Given the description of an element on the screen output the (x, y) to click on. 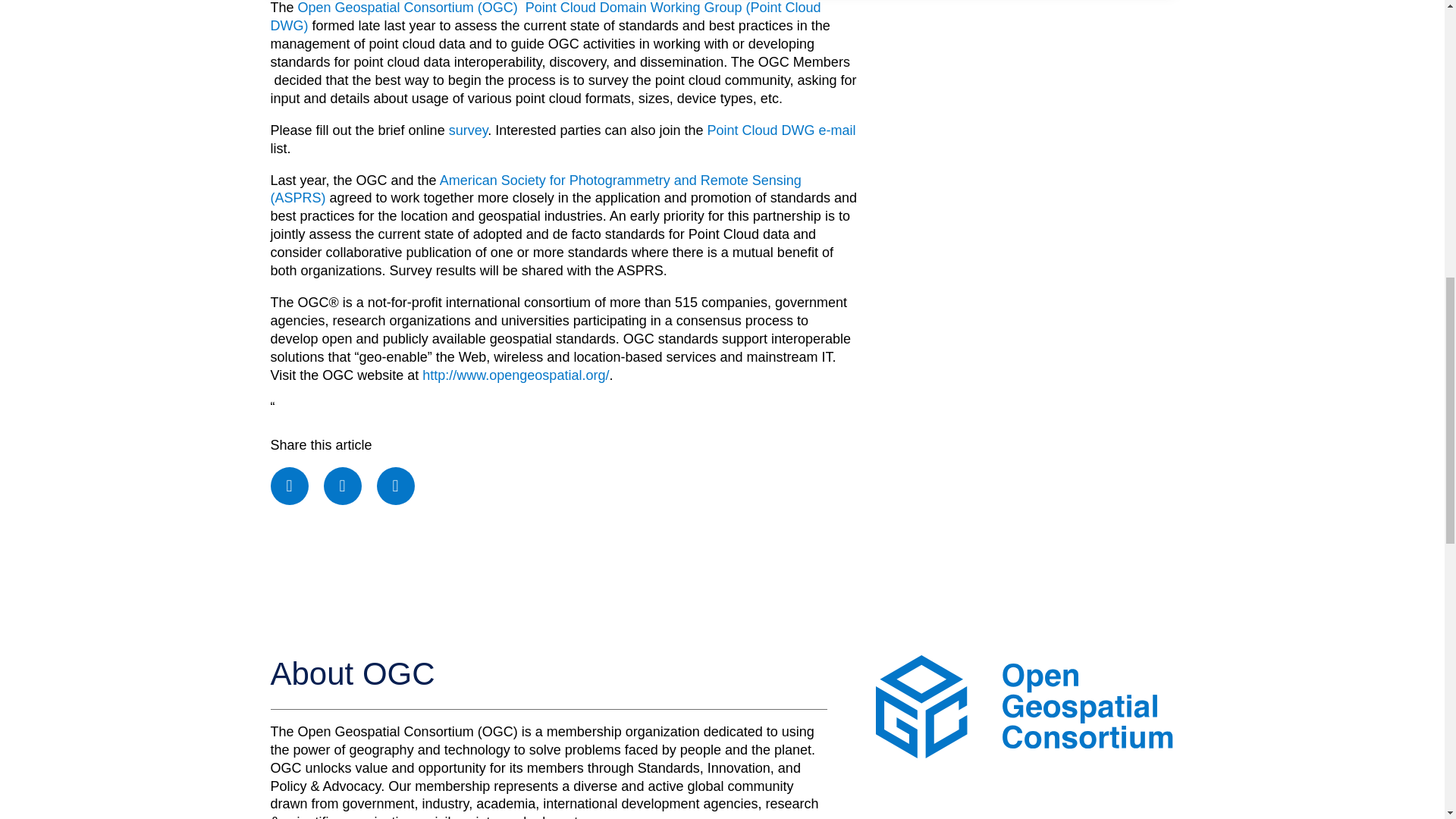
Twitter (342, 485)
Facebook (288, 485)
LinkedIn (395, 485)
